Given the description of an element on the screen output the (x, y) to click on. 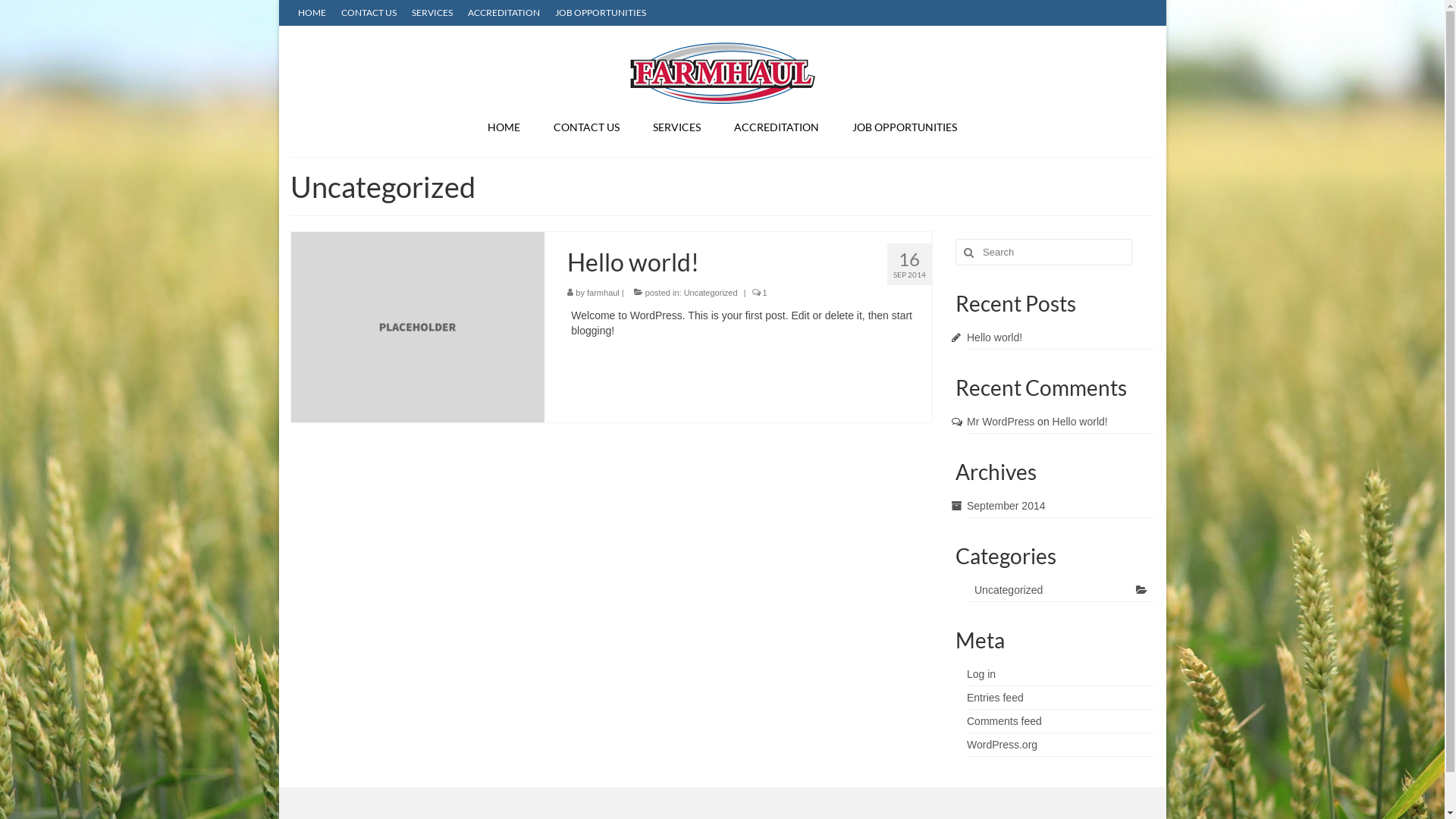
Uncategorized Element type: text (1060, 590)
HOME Element type: text (310, 12)
farmhaul Element type: text (602, 292)
SERVICES Element type: text (676, 126)
Hello world! Element type: text (1079, 421)
JOB OPPORTUNITIES Element type: text (600, 12)
Mr WordPress Element type: text (1000, 421)
Entries feed Element type: text (994, 697)
Comments feed Element type: text (1003, 721)
CONTACT US Element type: text (368, 12)
ACCREDITATION Element type: text (776, 126)
Hello world! Element type: text (994, 337)
ACCREDITATION Element type: text (502, 12)
JOB OPPORTUNITIES Element type: text (904, 126)
CONTACT US Element type: text (586, 126)
Hello world! Element type: text (749, 262)
HOME Element type: text (503, 126)
SERVICES Element type: text (431, 12)
Hello world! Element type: hover (418, 326)
Uncategorized Element type: text (710, 292)
Log in Element type: text (980, 674)
WordPress.org Element type: text (1001, 744)
September 2014 Element type: text (1005, 505)
